Given the description of an element on the screen output the (x, y) to click on. 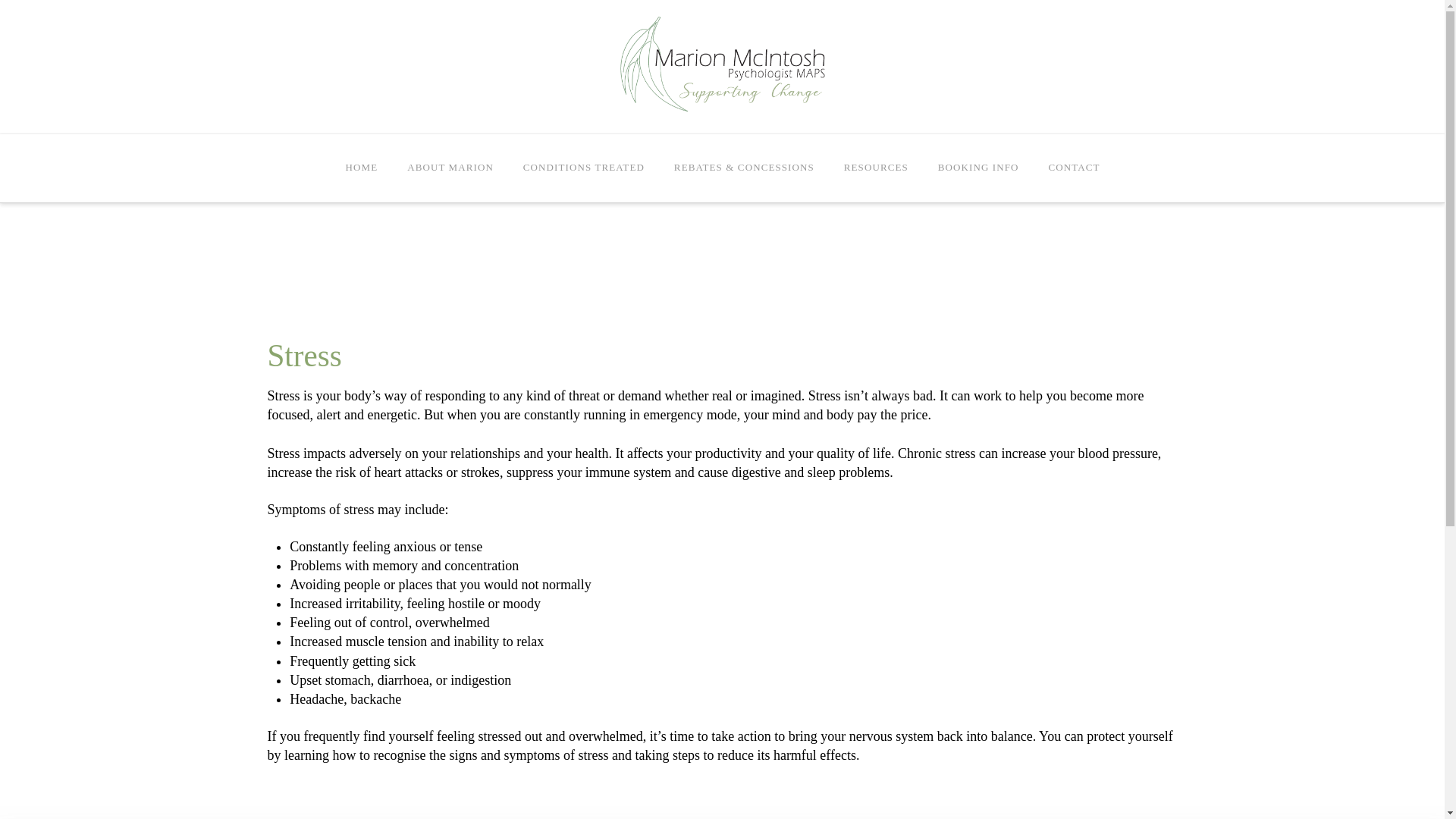
RESOURCES Element type: text (875, 168)
BOOKING INFO Element type: text (977, 168)
HOME Element type: text (361, 168)
REBATES & CONCESSIONS Element type: text (743, 168)
CONDITIONS TREATED Element type: text (583, 168)
CONTACT Element type: text (1072, 168)
ABOUT MARION Element type: text (450, 168)
